Given the description of an element on the screen output the (x, y) to click on. 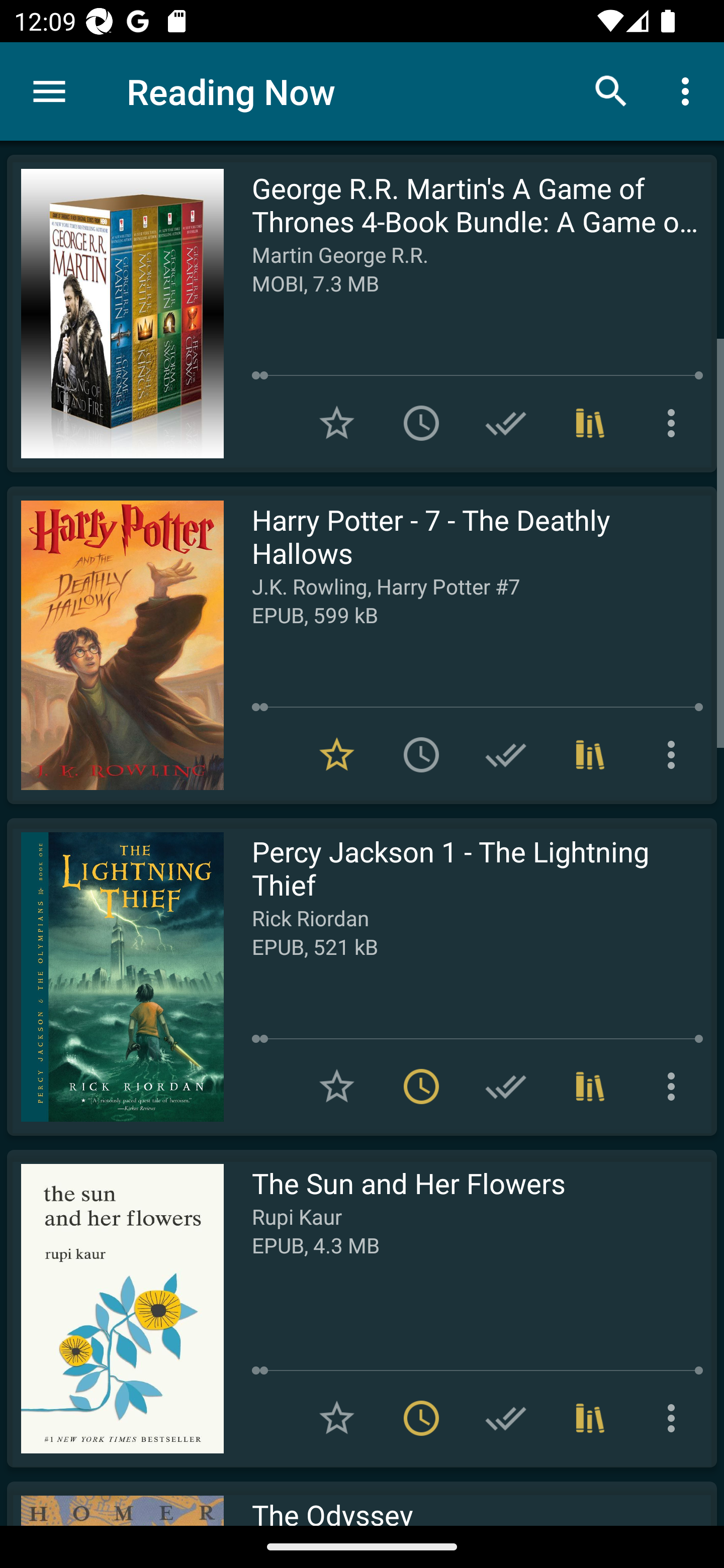
Menu (49, 91)
Search books & documents (611, 90)
More options (688, 90)
Add to Favorites (336, 423)
Add to To read (421, 423)
Add to Have read (505, 423)
Collections (1) (590, 423)
More options (674, 423)
Read Harry Potter - 7 - The Deathly Hallows (115, 645)
Remove from Favorites (336, 753)
Add to To read (421, 753)
Add to Have read (505, 753)
Collections (1) (590, 753)
More options (674, 753)
Read Percy Jackson 1 - The Lightning Thief (115, 976)
Add to Favorites (336, 1086)
Remove from To read (421, 1086)
Add to Have read (505, 1086)
Collections (1) (590, 1086)
More options (674, 1086)
Read The Sun and Her Flowers (115, 1308)
Add to Favorites (336, 1417)
Remove from To read (421, 1417)
Add to Have read (505, 1417)
Collections (1) (590, 1417)
More options (674, 1417)
